Given the description of an element on the screen output the (x, y) to click on. 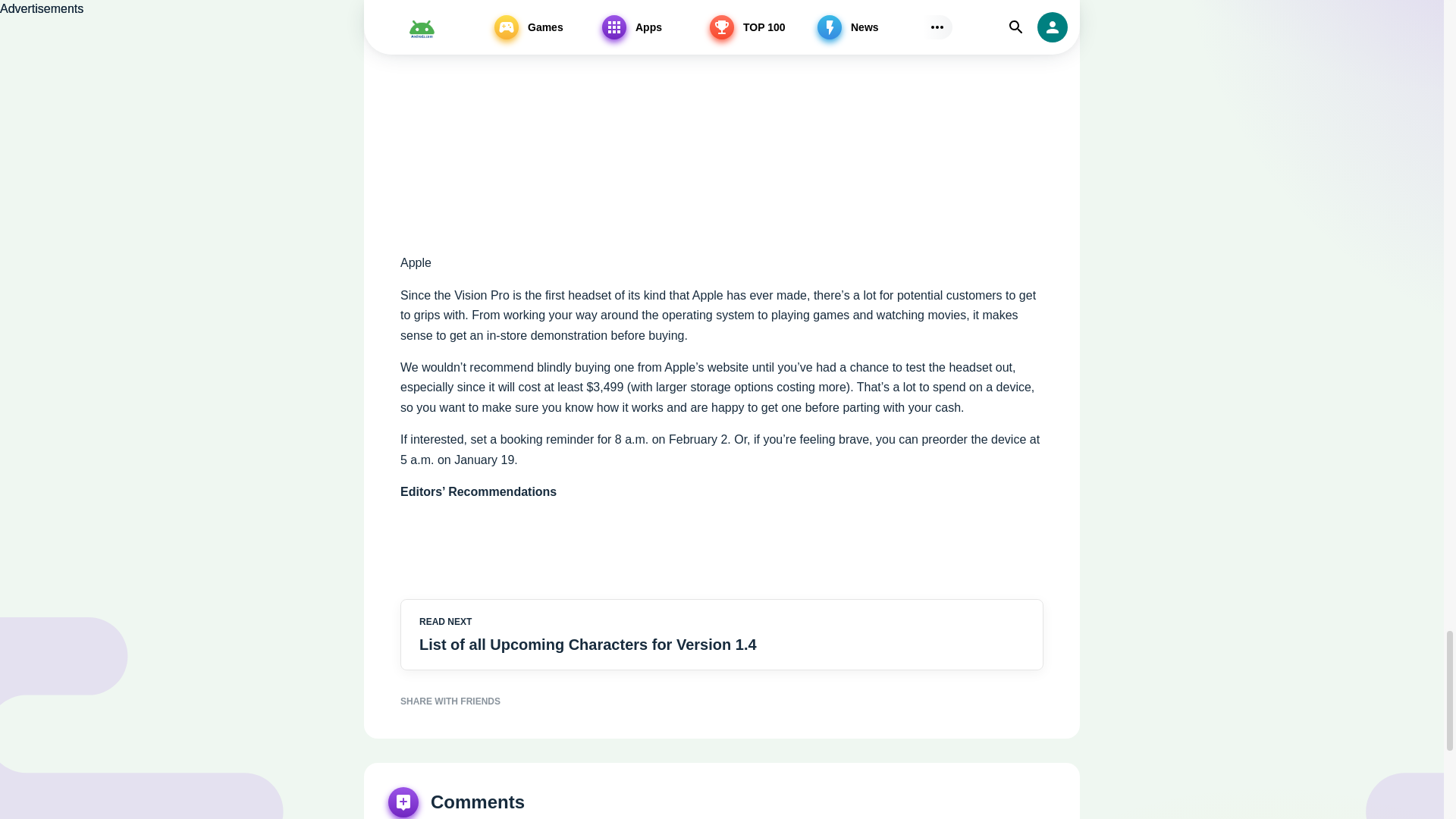
Share with friends (721, 701)
List of all Upcoming Characters for Version 1.4 (637, 644)
Read next (721, 634)
